Given the description of an element on the screen output the (x, y) to click on. 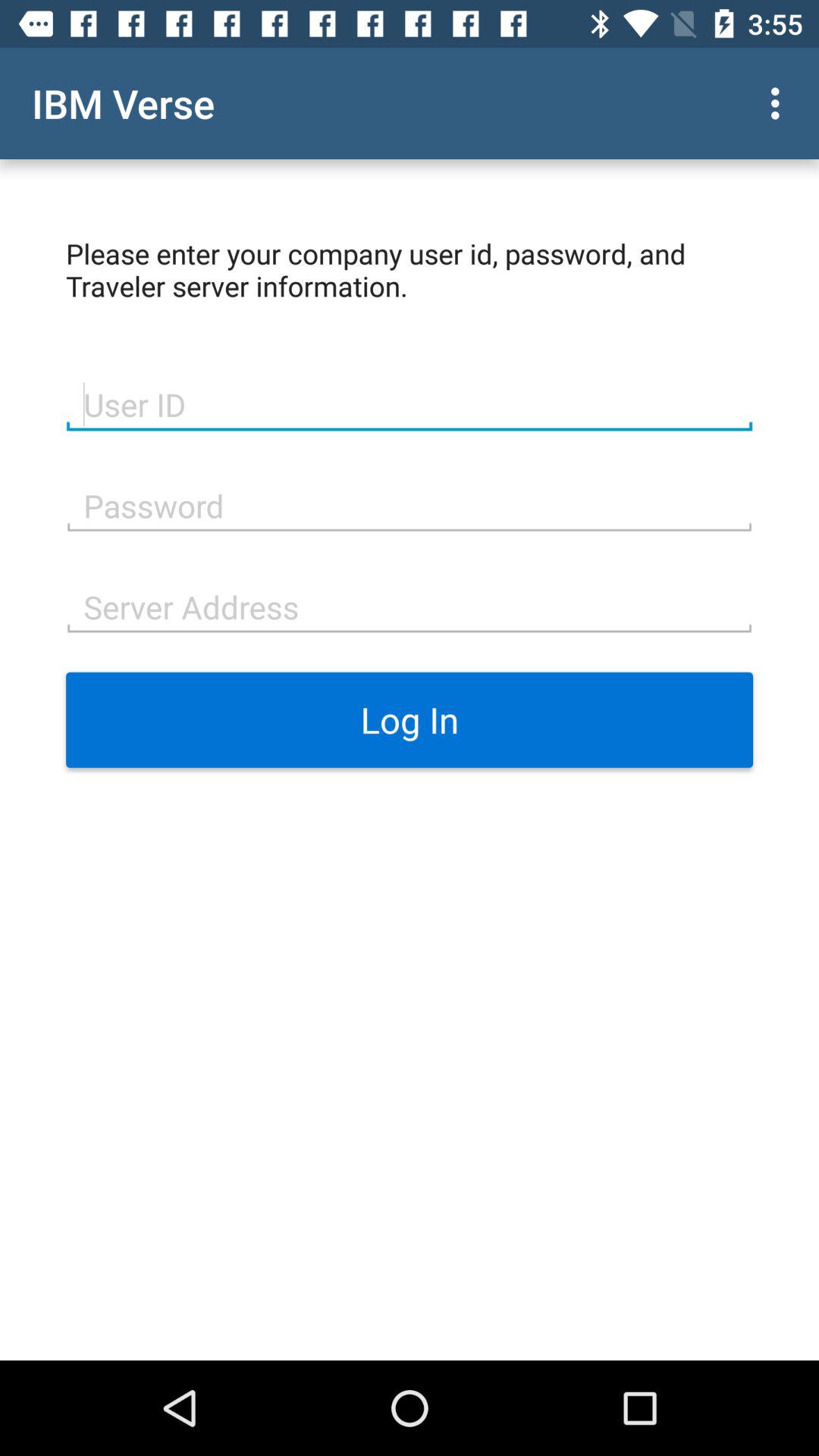
turn off the log in icon (409, 719)
